Given the description of an element on the screen output the (x, y) to click on. 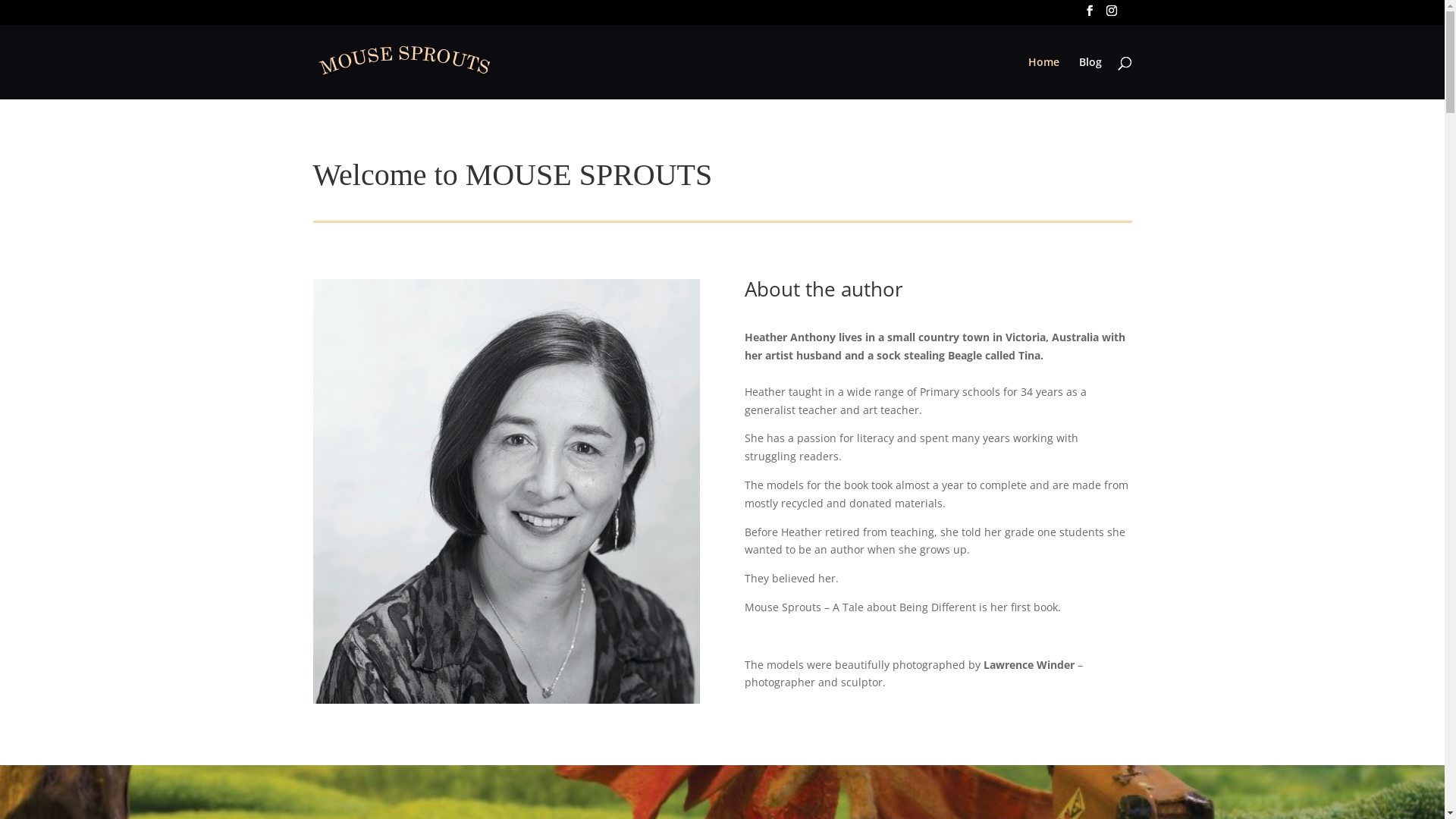
Home Element type: text (1043, 77)
Blog Element type: text (1089, 77)
